Given the description of an element on the screen output the (x, y) to click on. 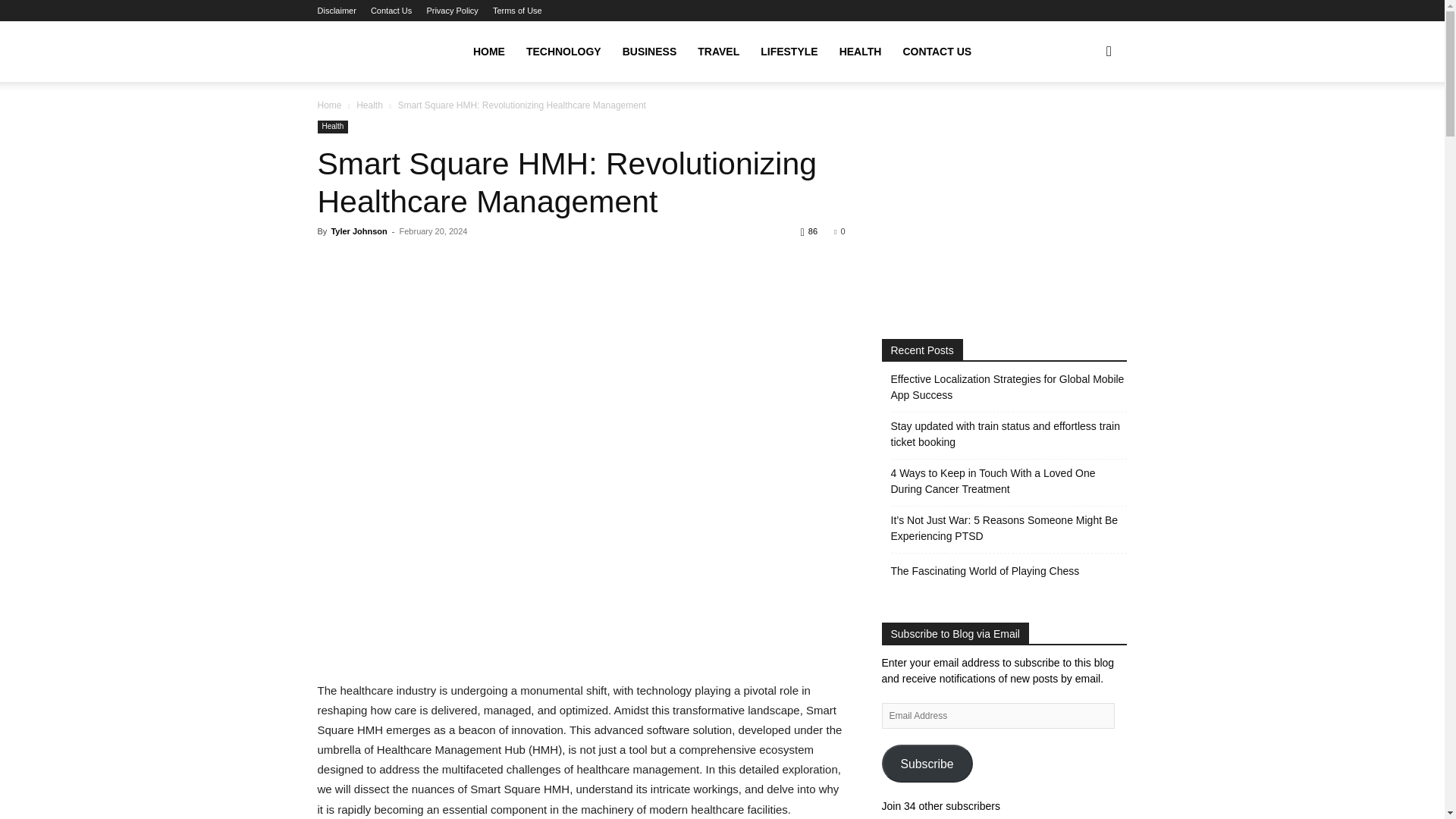
HEALTH (860, 51)
View all posts in Health (369, 104)
Terms of Use (517, 10)
Home (328, 104)
Privacy Policy (451, 10)
LIFESTYLE (788, 51)
Tyler Johnson (358, 230)
Health (369, 104)
TRAVEL (718, 51)
Contact Us (391, 10)
Health (332, 126)
TECHNOLOGY (563, 51)
Disclaimer (336, 10)
0 (839, 230)
Search (1085, 124)
